Given the description of an element on the screen output the (x, y) to click on. 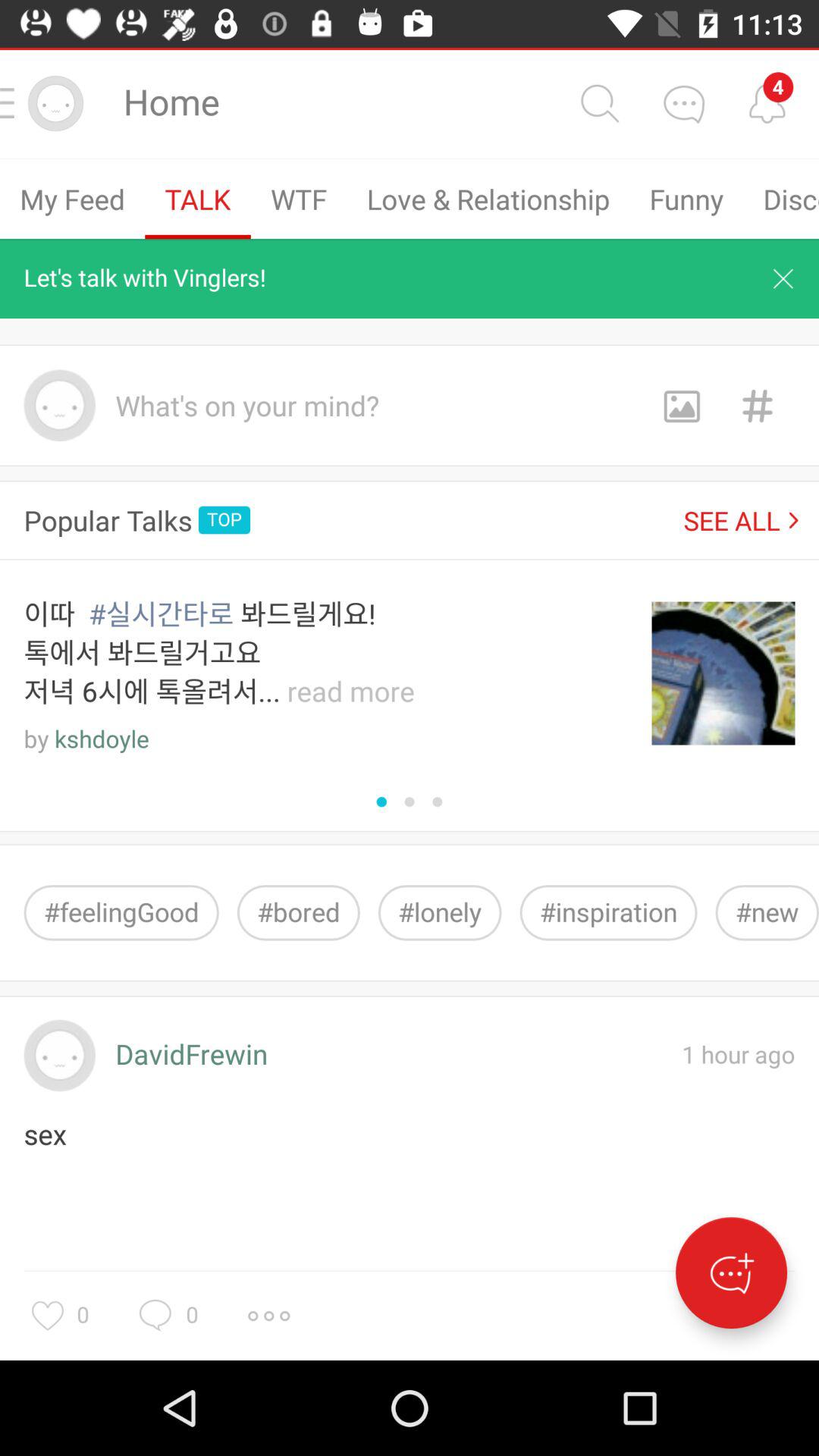
toggle hashtag (757, 405)
